Given the description of an element on the screen output the (x, y) to click on. 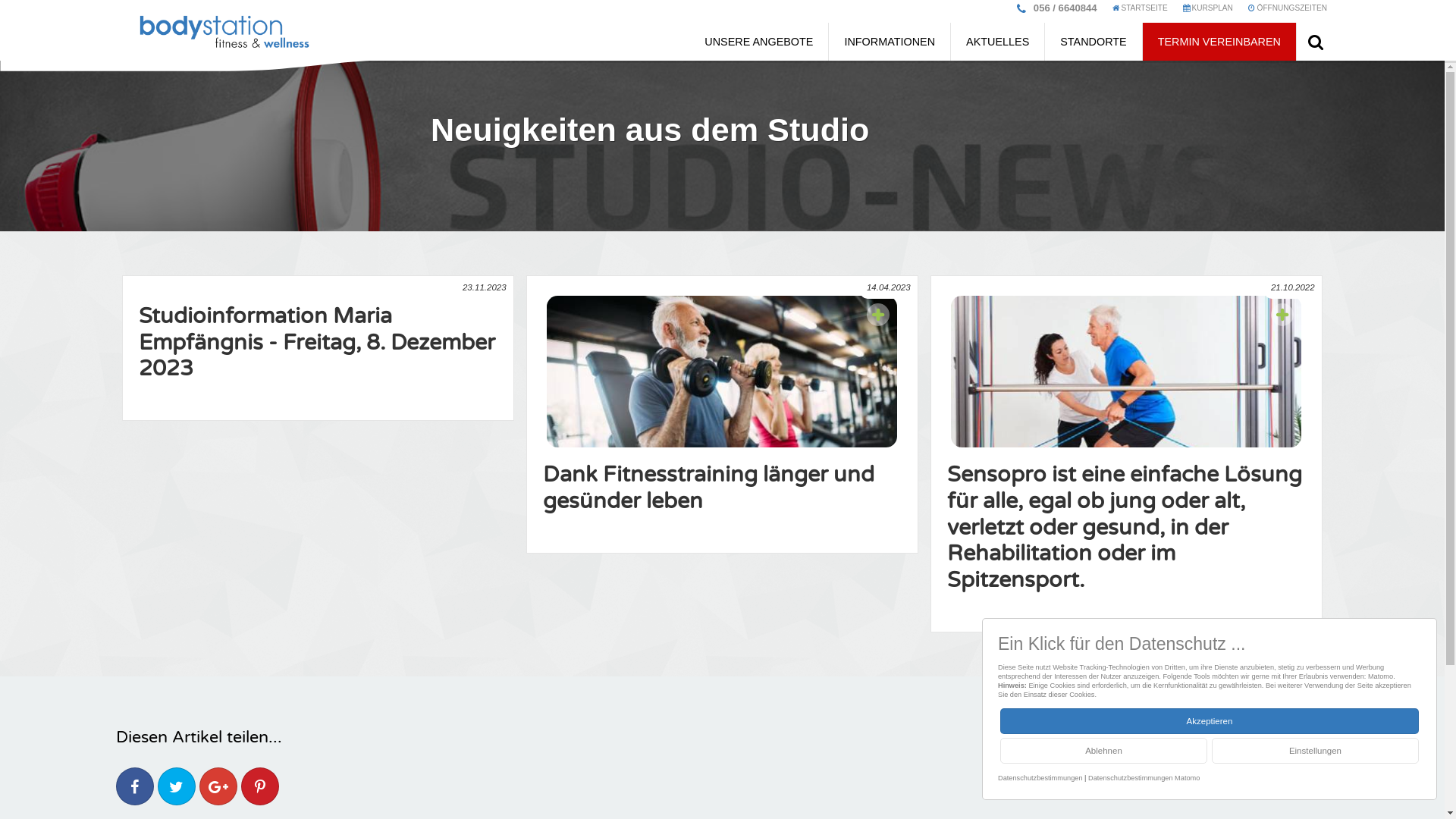
UNSERE ANGEBOTE Element type: text (758, 41)
Datenschutzbestimmungen Matomo Element type: text (1143, 777)
AKTUELLES Element type: text (997, 41)
STANDORTE Element type: text (1092, 41)
Einstellungen Element type: text (1314, 750)
Datenschutzbestimmungen Element type: text (1039, 777)
Ablehnen Element type: text (1103, 750)
Share via Twitter Element type: hover (176, 786)
TERMIN VEREINBAREN Element type: text (1218, 41)
INFORMATIONEN Element type: text (889, 41)
Akzeptieren Element type: text (1209, 721)
056 / 6640844 Element type: text (1065, 7)
STARTSEITE Element type: text (1139, 10)
Share via Pinterest Element type: hover (259, 786)
Share via Google+ Element type: hover (217, 786)
KURSPLAN Element type: text (1207, 10)
Share via Facebook Element type: hover (134, 786)
